Given the description of an element on the screen output the (x, y) to click on. 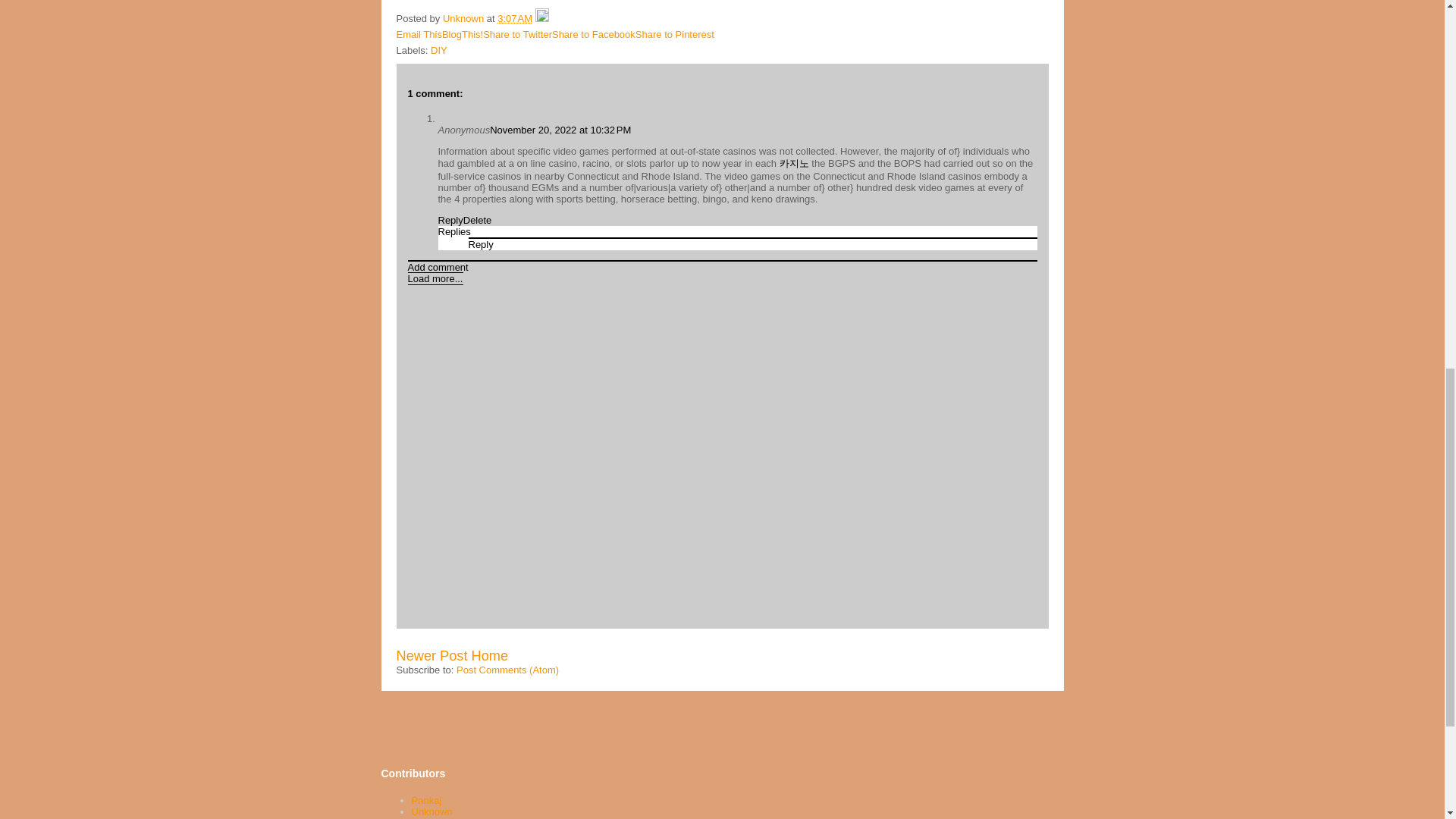
Delete (477, 220)
Share to Twitter (517, 34)
Unknown (464, 18)
Email This (418, 34)
Edit Post (541, 18)
Replies (454, 231)
Reply (450, 220)
Reply (480, 244)
Pankaj (425, 799)
Share to Pinterest (674, 34)
Share to Facebook (592, 34)
author profile (464, 18)
Share to Twitter (517, 34)
BlogThis! (462, 34)
